Given the description of an element on the screen output the (x, y) to click on. 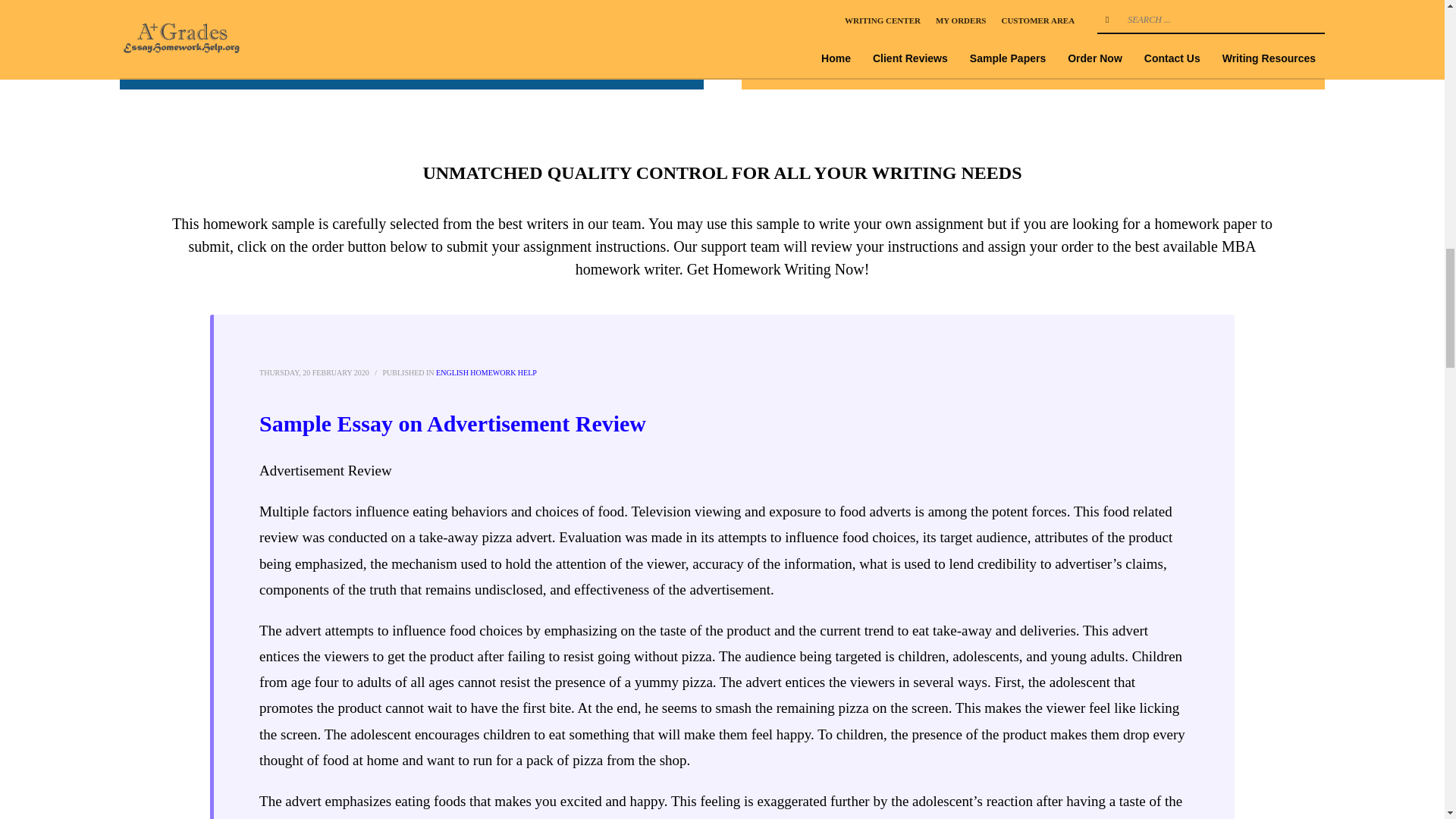
ENGLISH HOMEWORK HELP (486, 372)
